Given the description of an element on the screen output the (x, y) to click on. 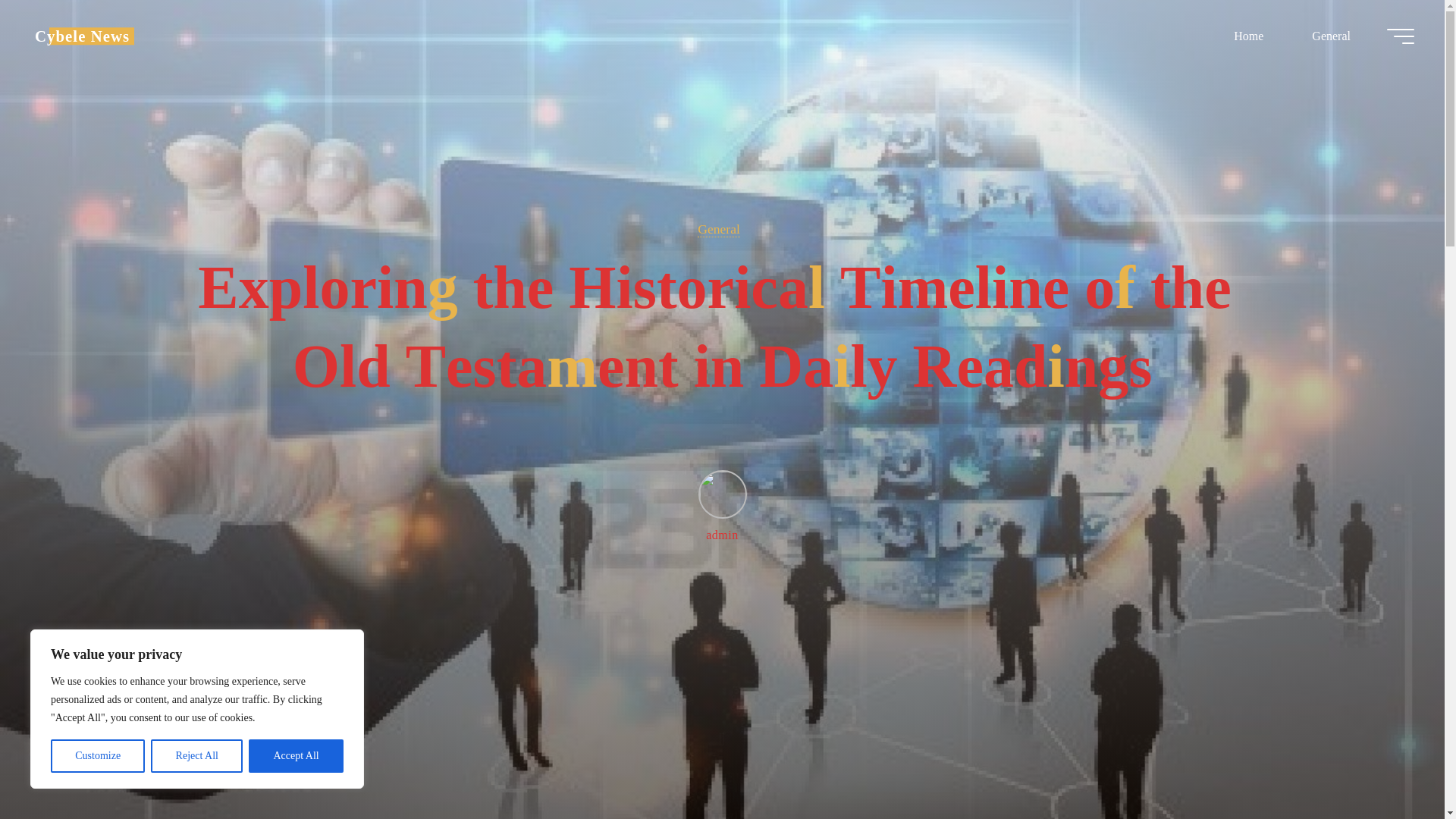
Blog (81, 36)
View all posts by admin (721, 505)
General (1330, 35)
Reject All (197, 756)
admin (721, 505)
Home (1248, 35)
General (718, 229)
Customize (97, 756)
Read more (721, 724)
Cybele News (81, 36)
Accept All (295, 756)
